Given the description of an element on the screen output the (x, y) to click on. 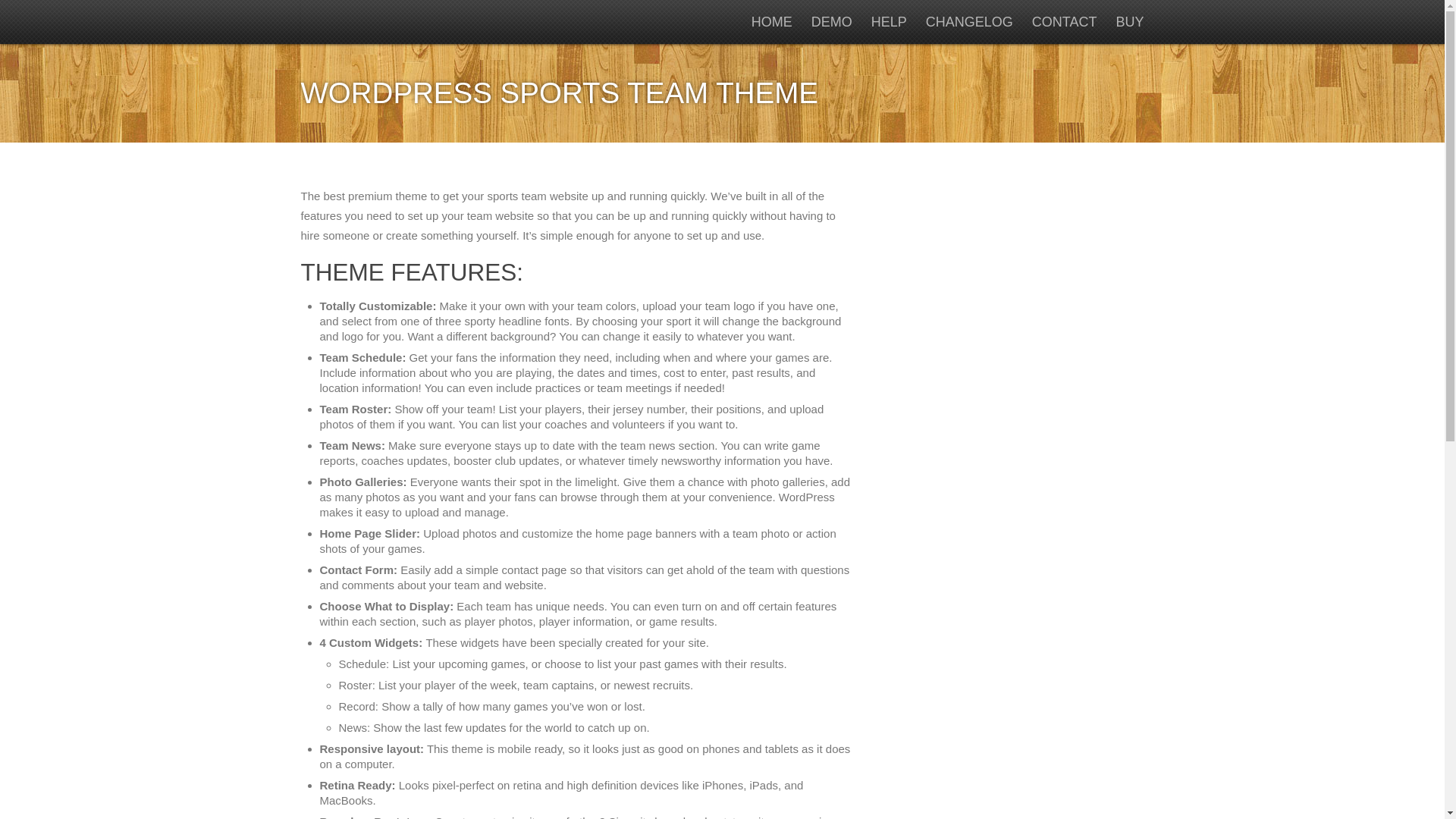
WordPress Sports Team Theme (394, 21)
HELP (888, 21)
DEMO (830, 21)
HOME (771, 21)
CONTACT (1064, 21)
BUY (1128, 21)
CHANGELOG (969, 21)
